Given the description of an element on the screen output the (x, y) to click on. 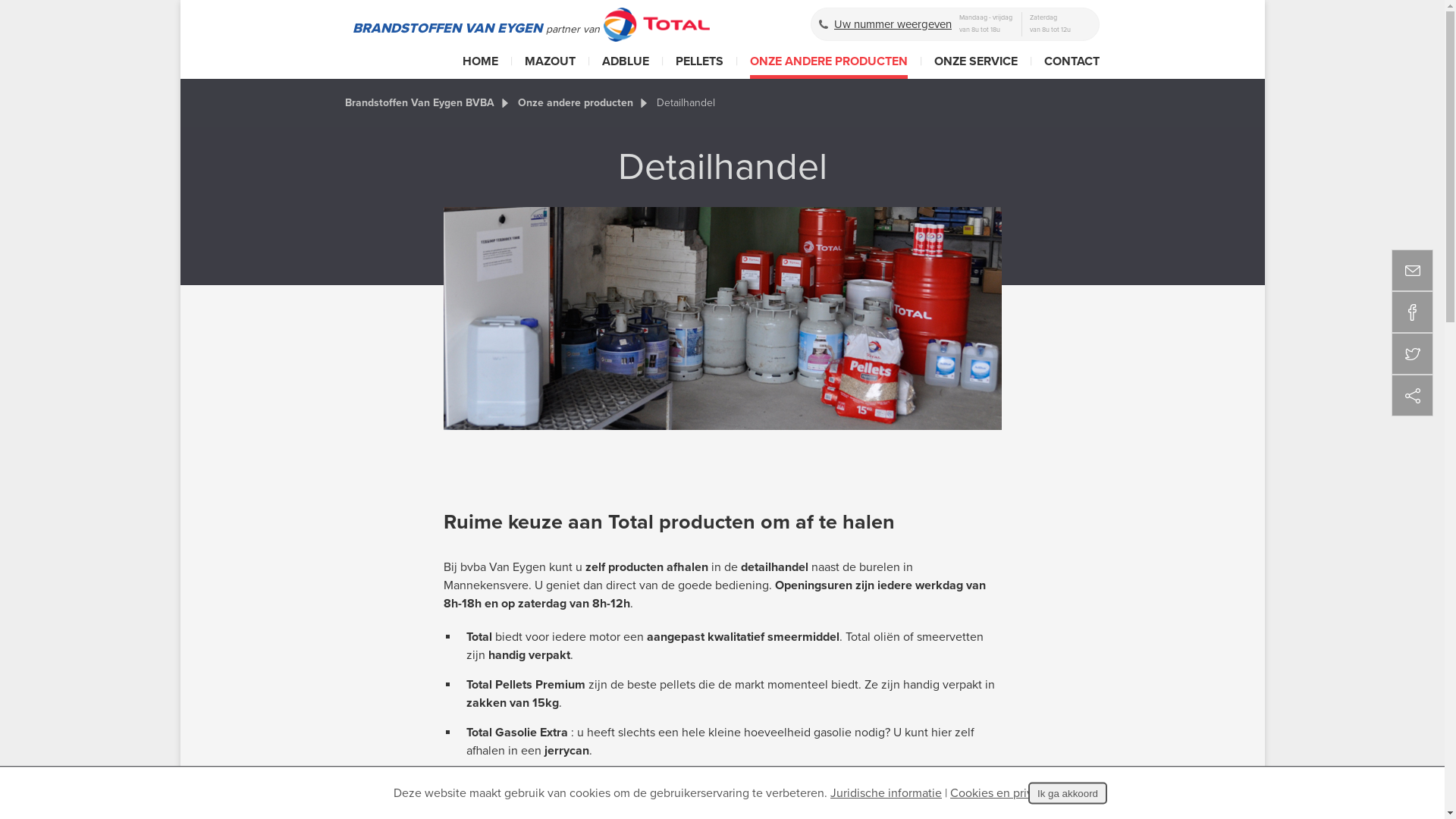
Onze andere producten Element type: text (575, 102)
PELLETS Element type: text (699, 64)
CONTACT Element type: text (1071, 64)
Uw nummer weergeven Element type: text (885, 24)
Juridische informatie Element type: text (885, 792)
ADBLUE Element type: text (625, 64)
ONZE SERVICE Element type: text (975, 64)
Vraag een offerte online Element type: text (529, 792)
ONZE ANDERE PRODUCTEN Element type: text (828, 65)
MAZOUT Element type: text (549, 64)
Deel deze content Element type: text (1412, 395)
Cookies en privacy Element type: text (1000, 792)
Brandstoffen Van Eygen BVBA Element type: hover (656, 24)
HOME Element type: text (480, 64)
Contacteer ons via ons formulier Element type: text (914, 792)
Brandstoffen Van Eygen BVBA Element type: text (419, 102)
